Given the description of an element on the screen output the (x, y) to click on. 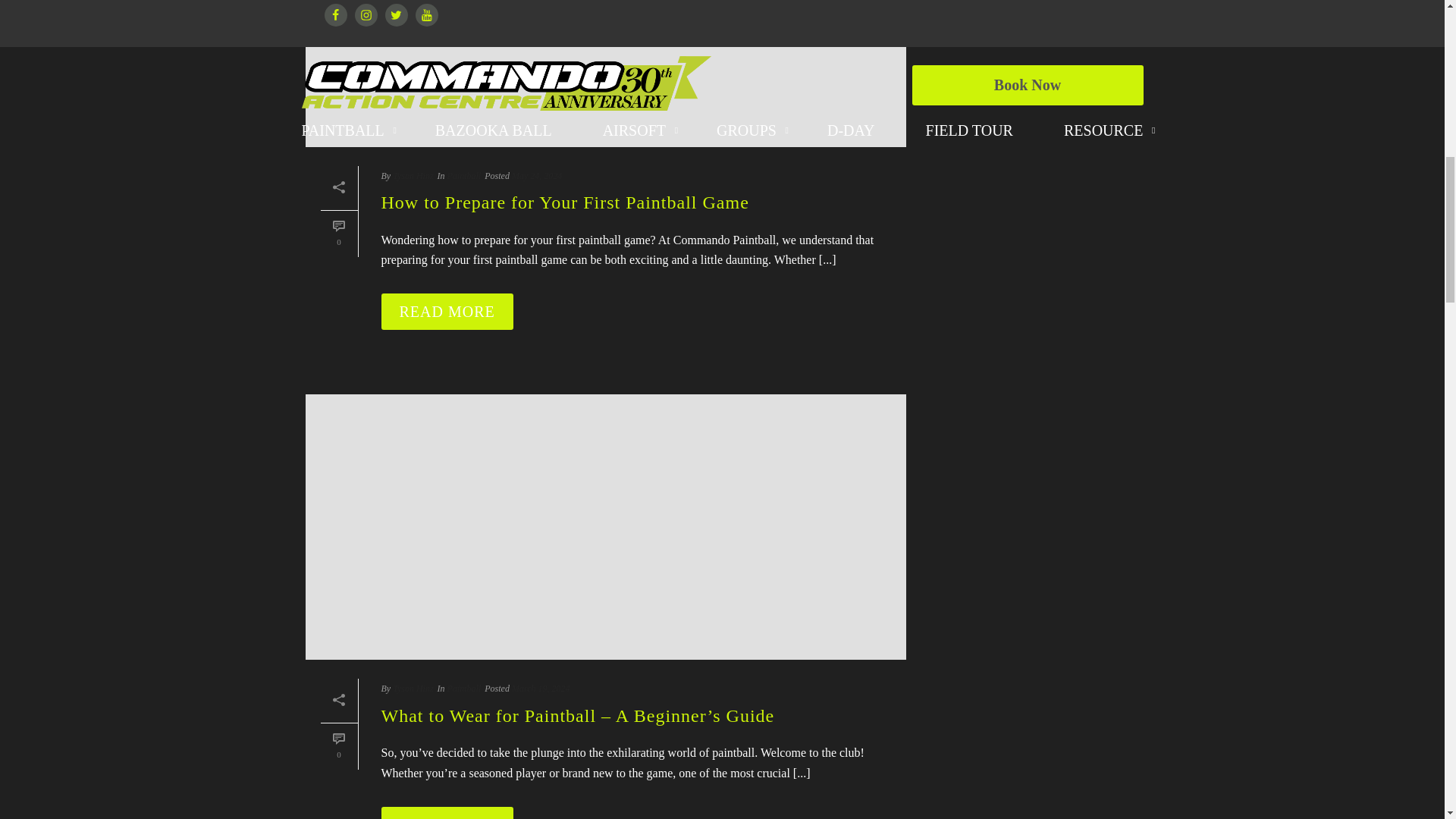
Posts by Tyson Hinz (412, 175)
How to Prepare for Your First Paintball Game (604, 73)
READ MORE (446, 812)
Posts by Tyson Hinz (412, 688)
READ MORE (446, 311)
